Given the description of an element on the screen output the (x, y) to click on. 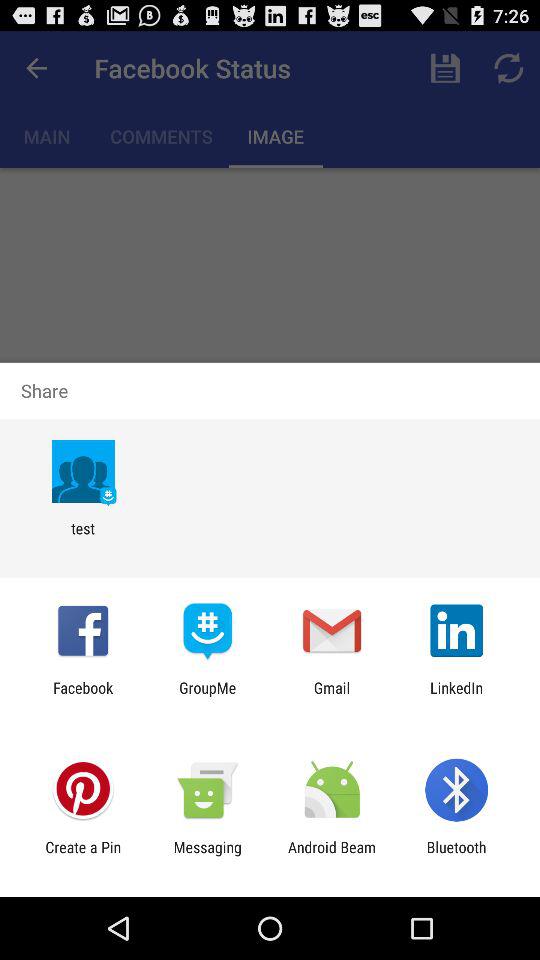
click the item next to messaging item (83, 856)
